Given the description of an element on the screen output the (x, y) to click on. 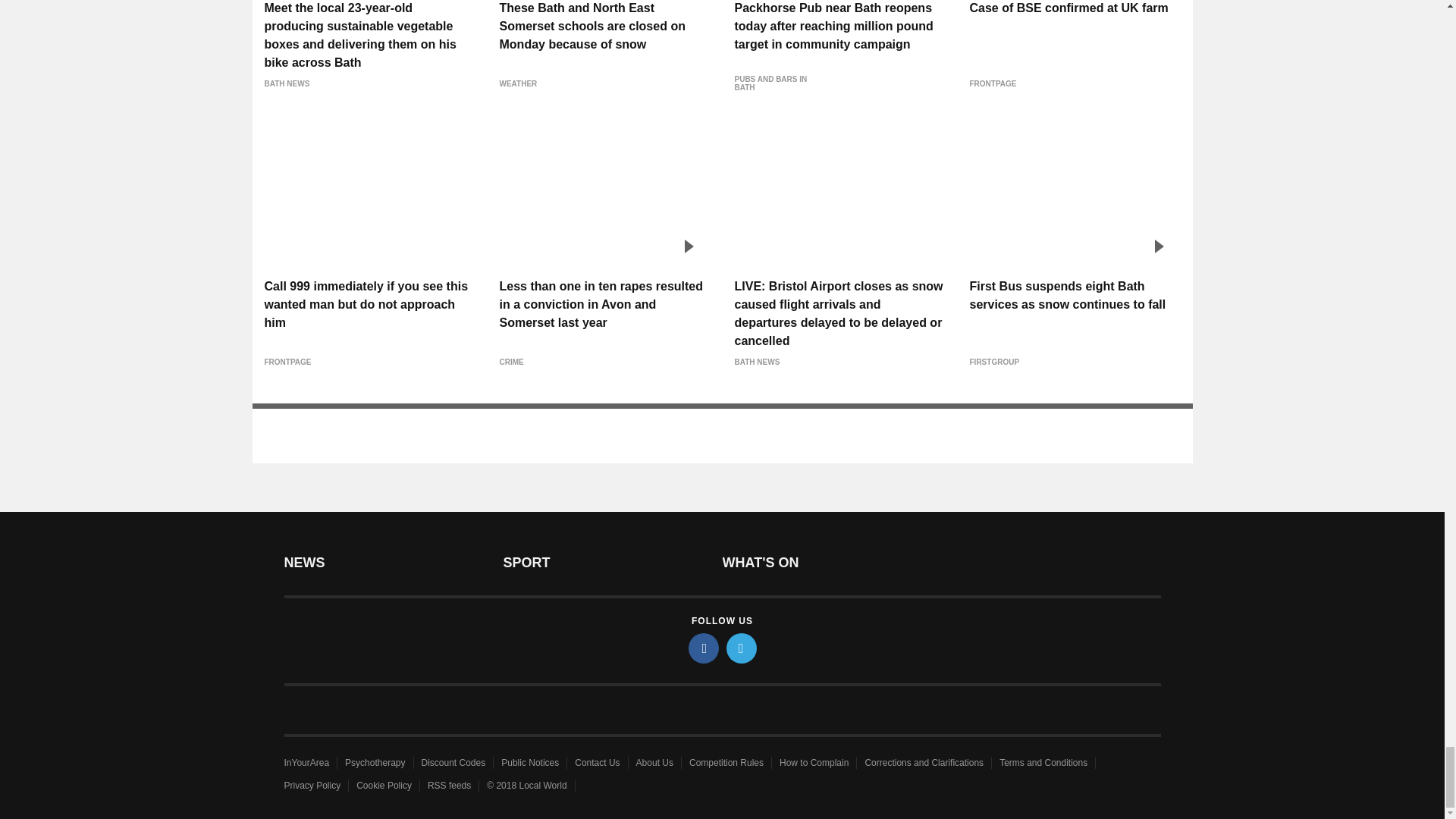
facebook (703, 648)
twitter (741, 648)
